Given the description of an element on the screen output the (x, y) to click on. 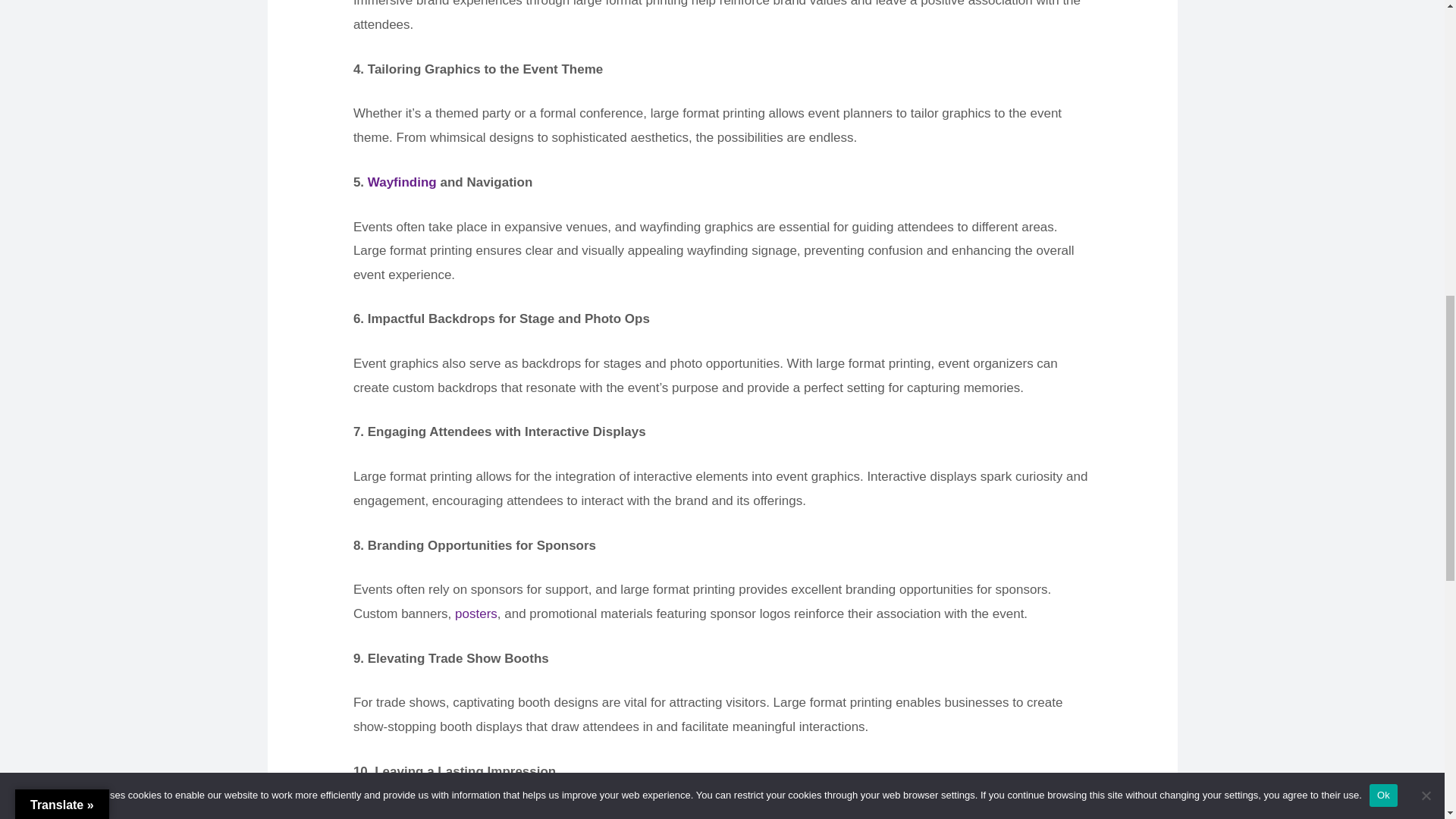
Wayfinding (402, 182)
posters (475, 613)
